Given the description of an element on the screen output the (x, y) to click on. 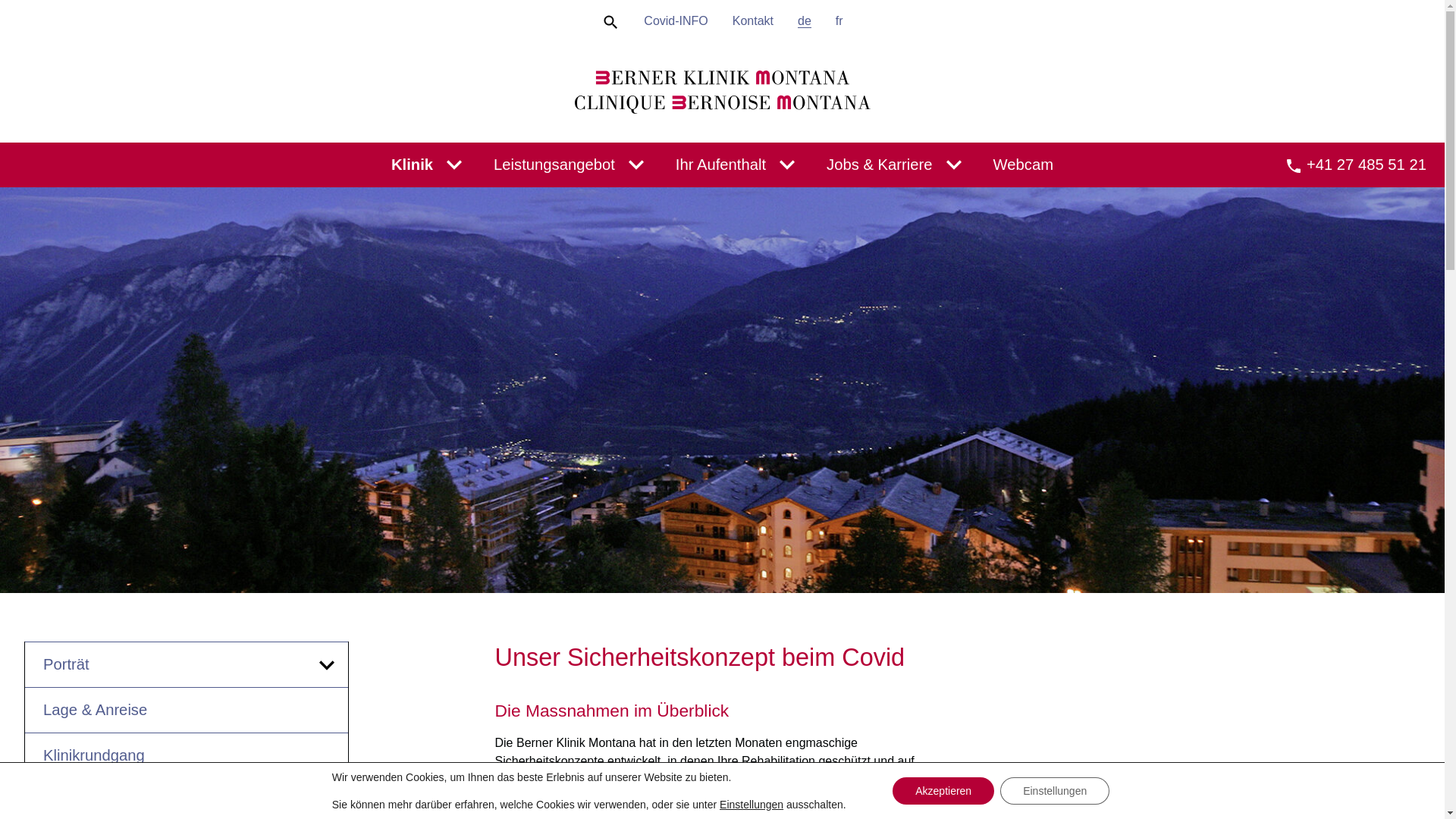
Jobs & Karriere Element type: text (879, 164)
+41 27 485 51 21 Element type: text (1355, 164)
fr Element type: text (839, 20)
Lage & Anreise Element type: text (186, 709)
de Element type: text (804, 20)
Klinik Element type: text (412, 164)
Zur Startseite Element type: hover (722, 92)
Ihr Aufenthalt Element type: text (720, 164)
Akzeptieren Element type: text (943, 790)
Kontakt Element type: text (752, 20)
Einstellungen Element type: text (1054, 790)
Webcam Element type: text (1023, 164)
Leistungsangebot Element type: text (554, 164)
Covid-INFO Element type: text (675, 20)
Klinikrundgang Element type: text (186, 755)
